Given the description of an element on the screen output the (x, y) to click on. 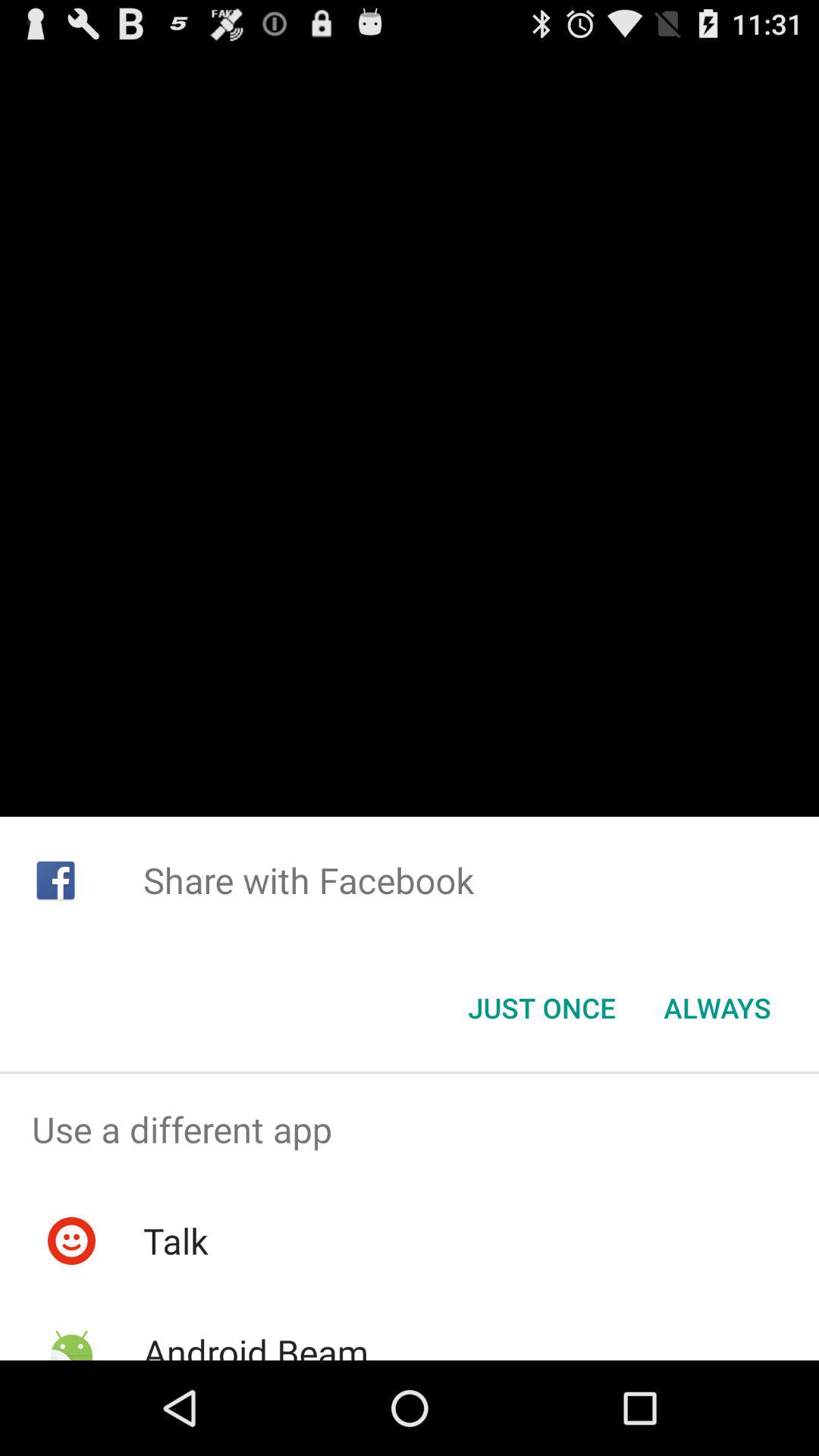
turn off always button (717, 1007)
